Given the description of an element on the screen output the (x, y) to click on. 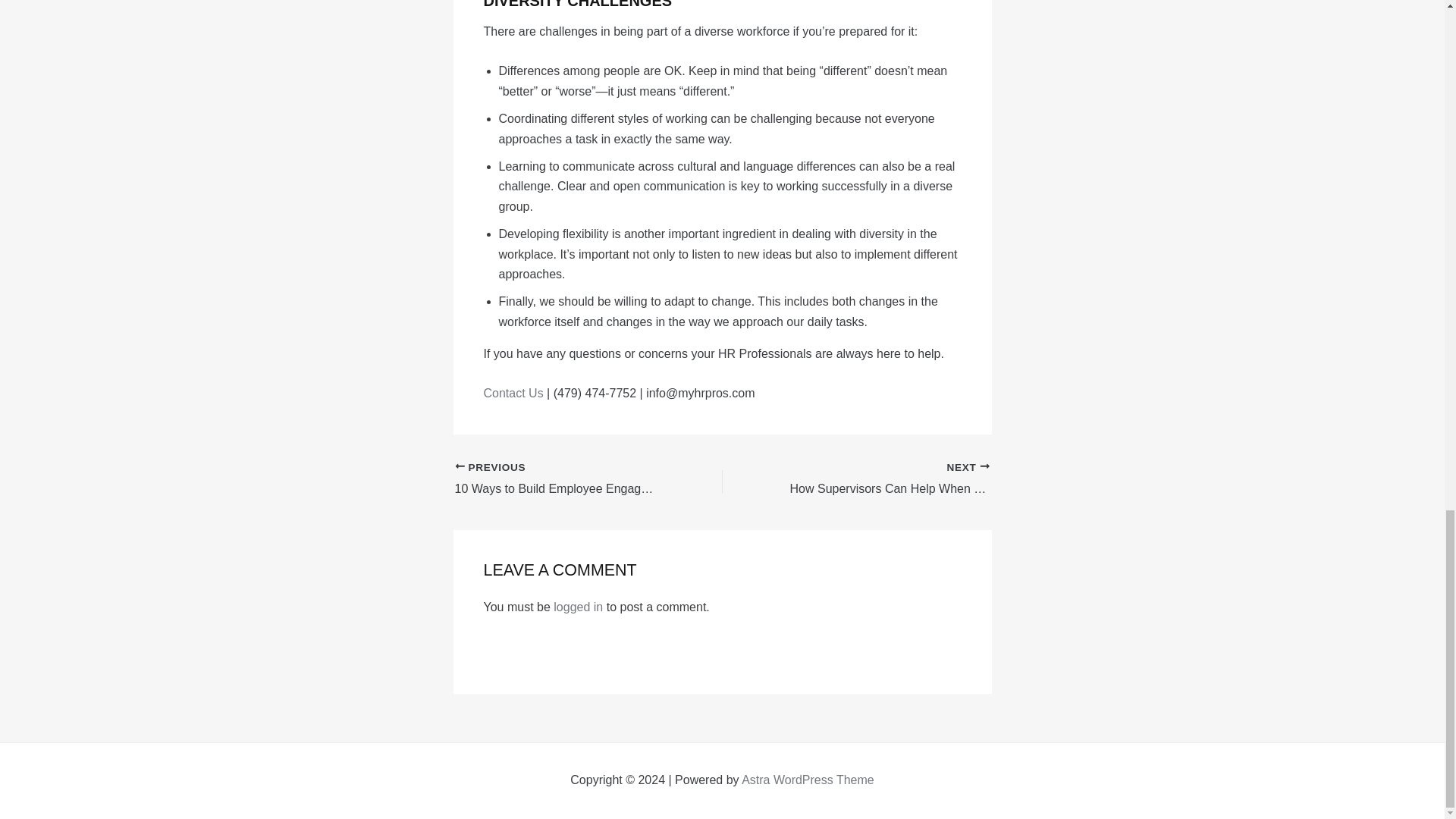
How Supervisors Can Help When Dealing with Change (882, 479)
10 Ways to Build Employee Engagement (561, 479)
